Given the description of an element on the screen output the (x, y) to click on. 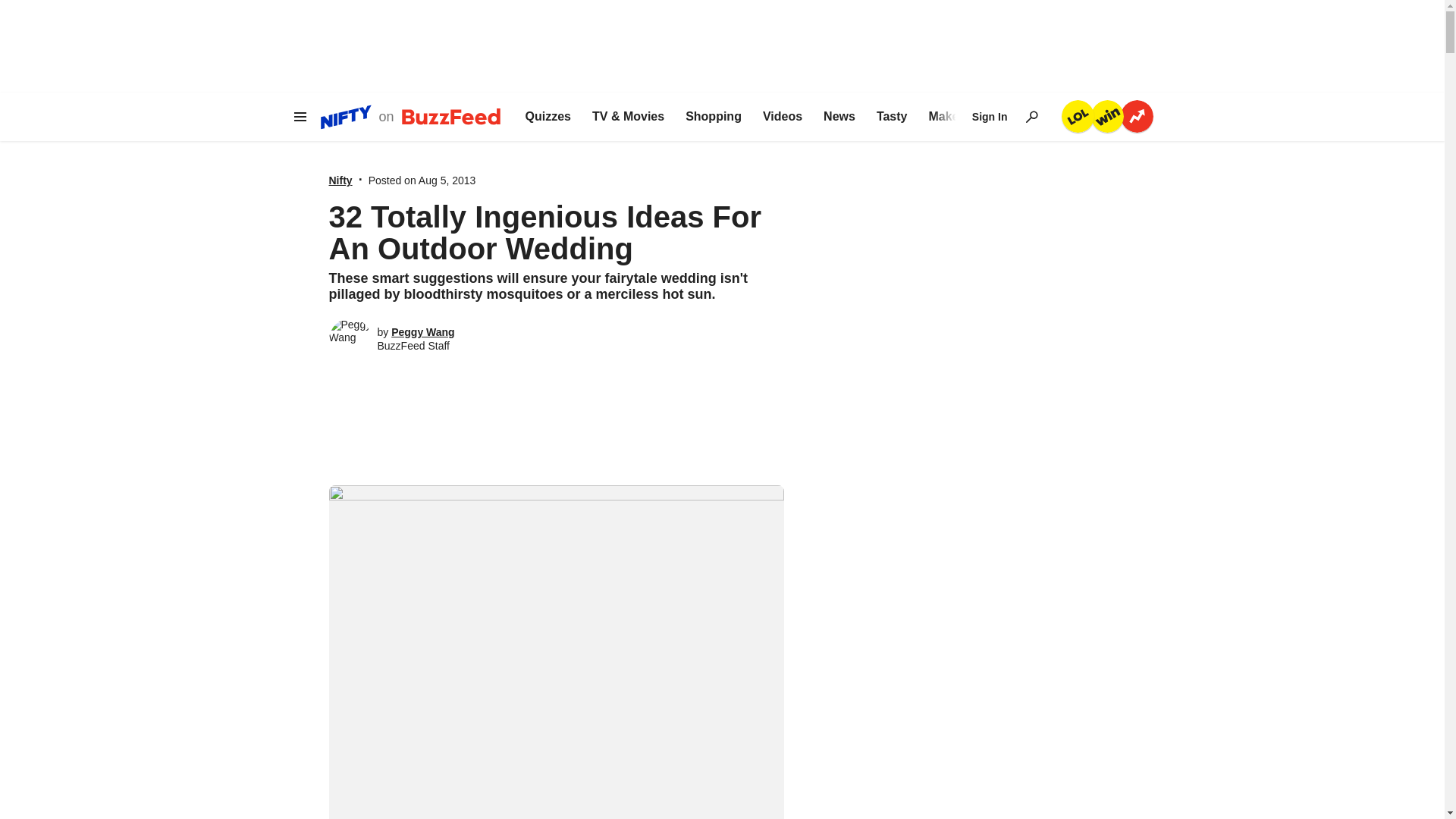
News (840, 116)
win Badge Feed (1106, 115)
Tasty (891, 116)
Quizzes (547, 116)
Shopping (713, 116)
Sign In (989, 116)
Make a Quiz (962, 116)
trending Badge Feed (1137, 115)
Videos (782, 116)
lol Badge Feed (1077, 115)
